Given the description of an element on the screen output the (x, y) to click on. 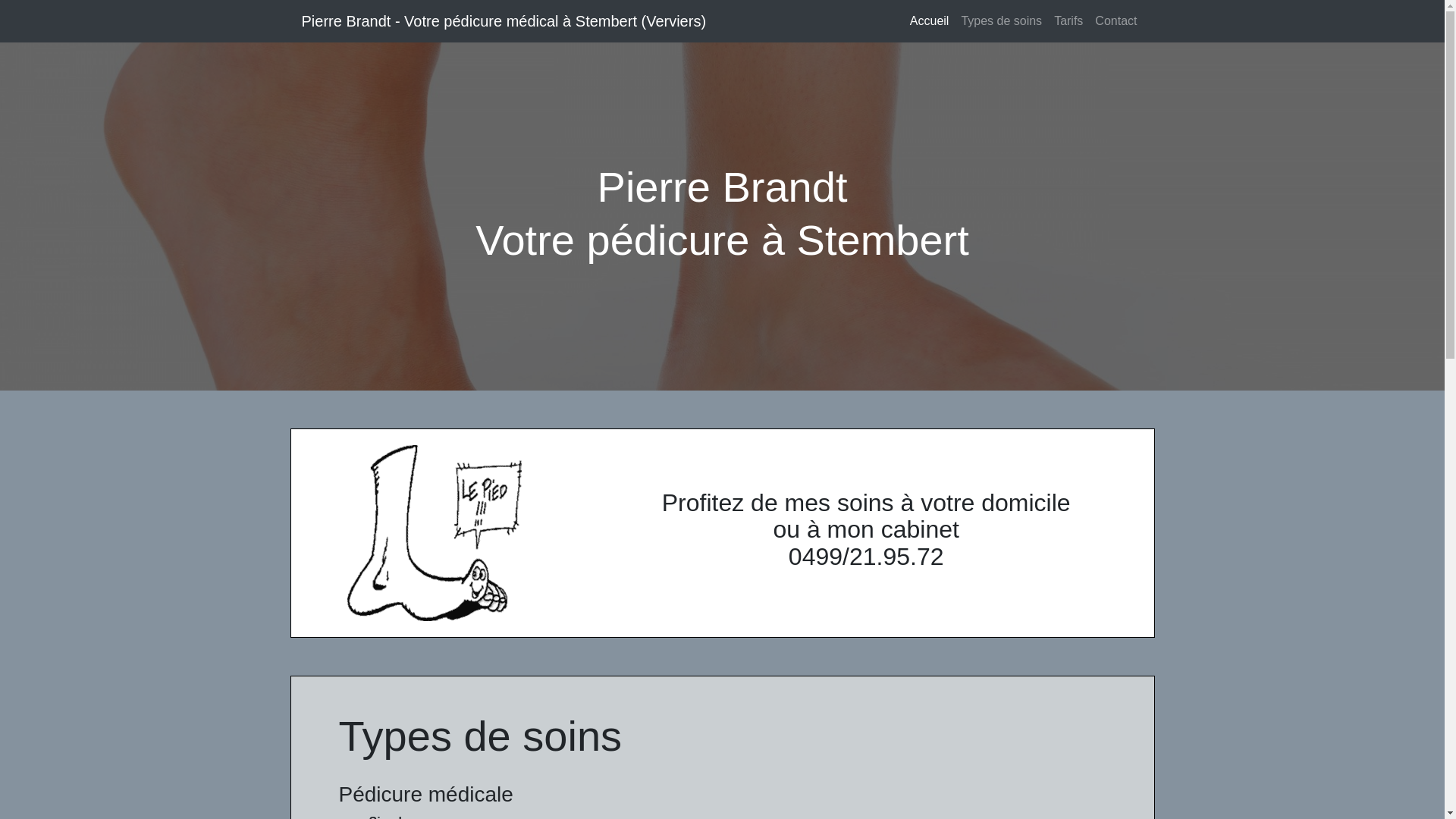
Types de soins Element type: text (1001, 21)
Accueil
(current) Element type: text (929, 21)
Tarifs Element type: text (1068, 21)
Contact Element type: text (1115, 21)
